Given the description of an element on the screen output the (x, y) to click on. 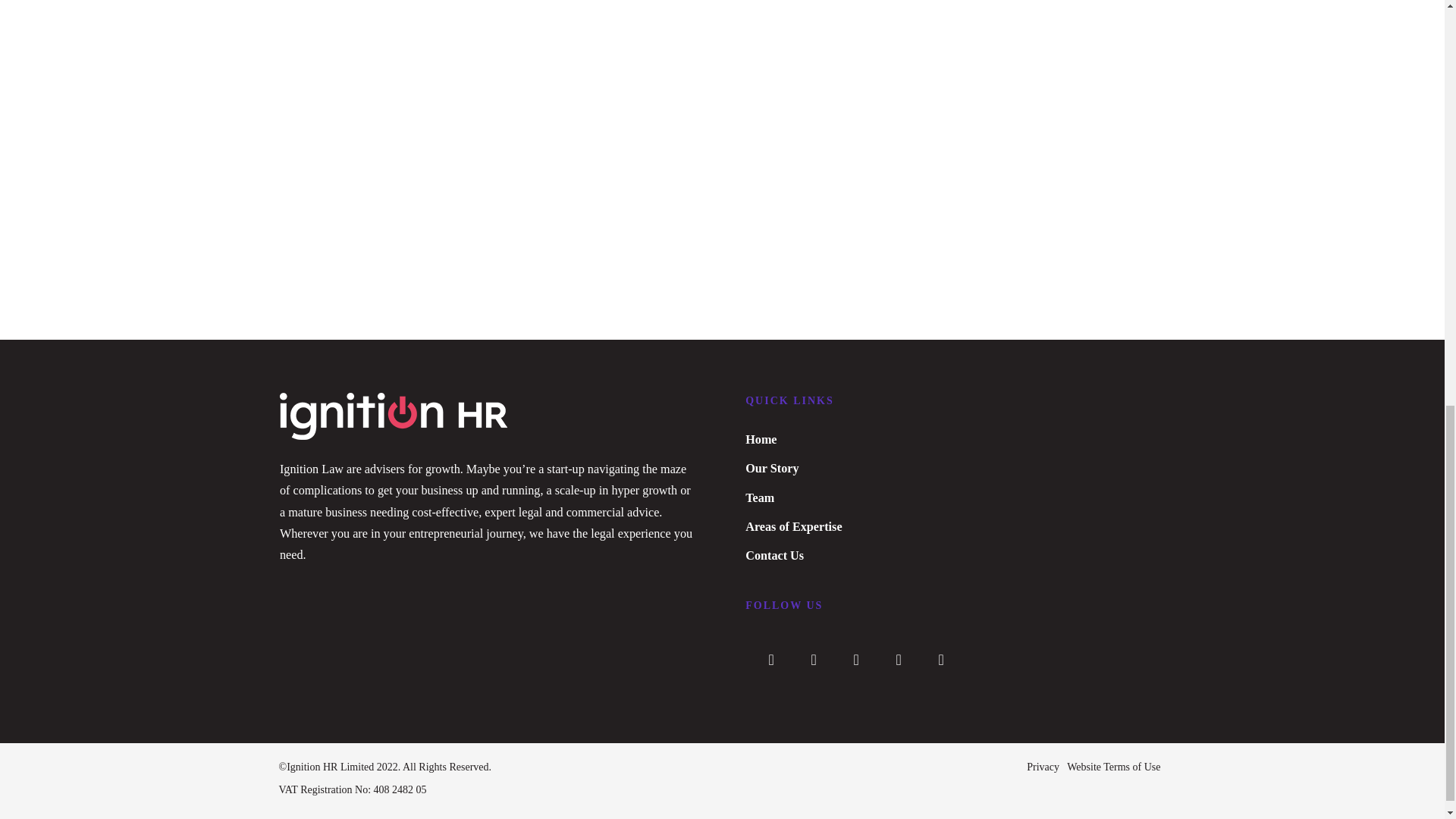
Home (760, 439)
Our Story (771, 468)
Areas of Expertise (793, 526)
Contact Us (774, 555)
Team (759, 498)
